Given the description of an element on the screen output the (x, y) to click on. 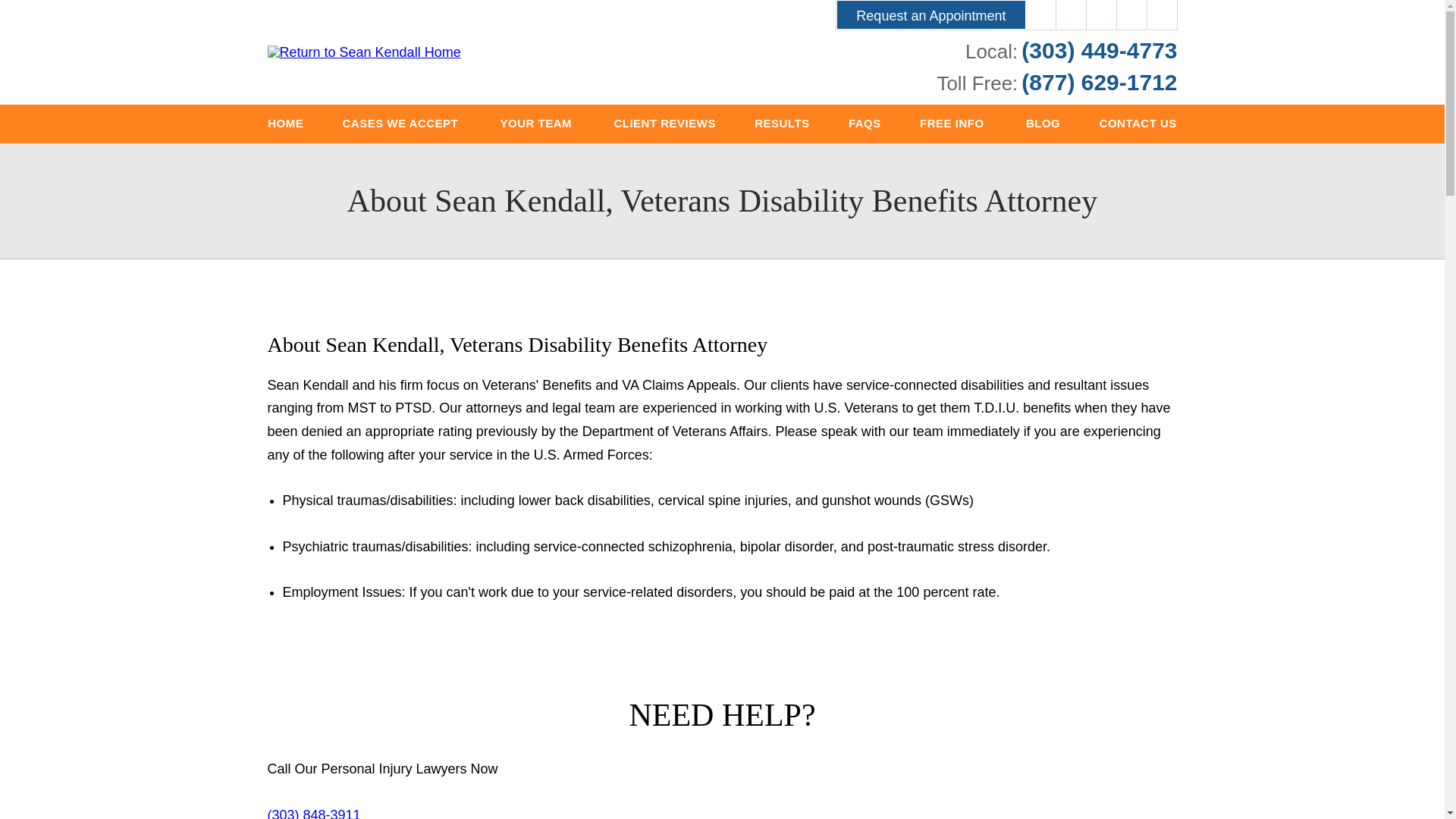
CASES WE ACCEPT (401, 123)
HOME (285, 123)
YOUR TEAM (537, 123)
FAQS (863, 123)
Request an Appointment (930, 14)
Search (1161, 15)
FREE INFO (952, 123)
CLIENT REVIEWS (664, 123)
RESULTS (782, 123)
